Given the description of an element on the screen output the (x, y) to click on. 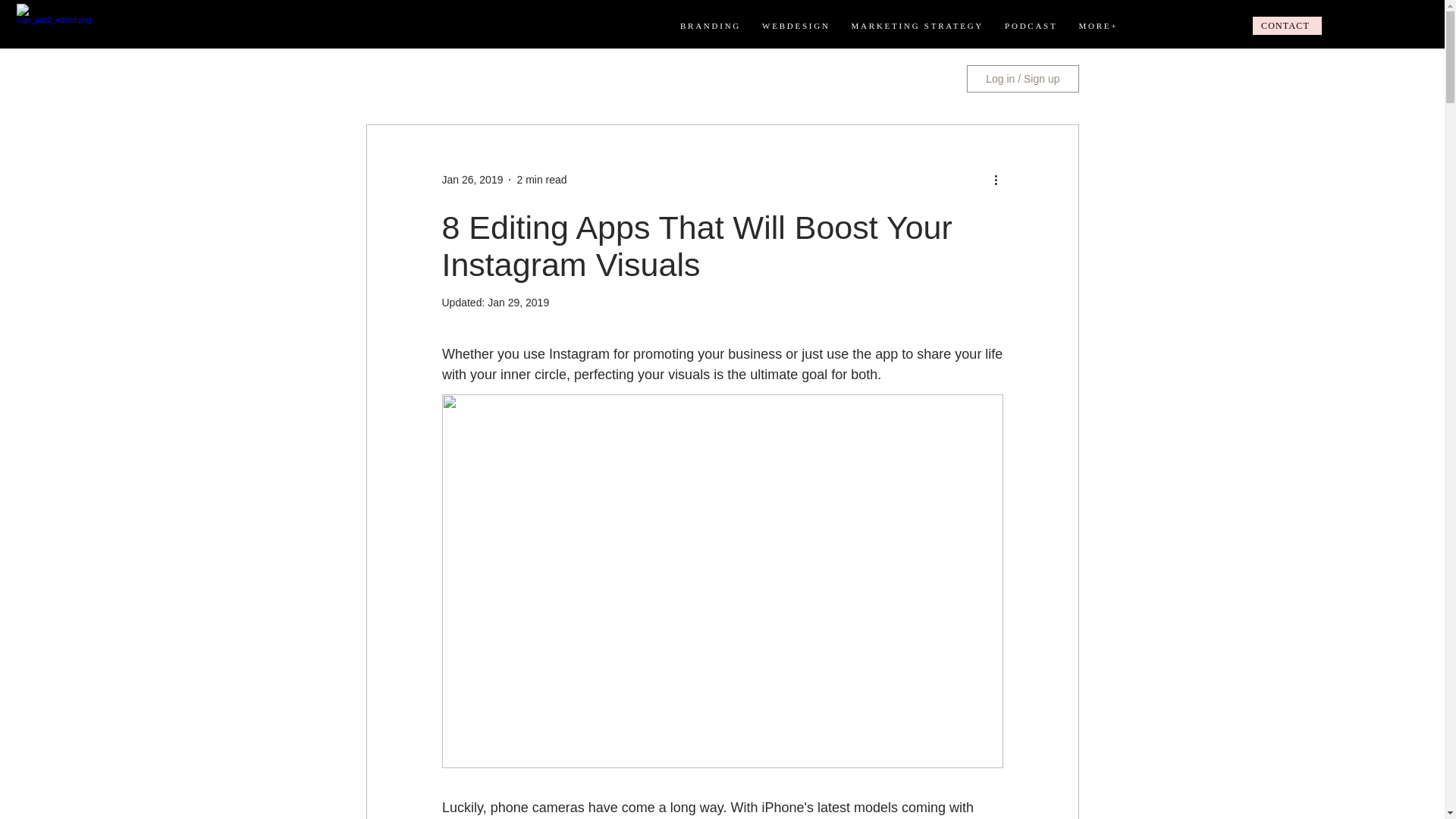
Jan 26, 2019 (471, 178)
2 min read (541, 178)
CONTACT (1287, 25)
MARKETING STRATEGY (917, 25)
PODCAST (1030, 25)
Jan 29, 2019 (517, 302)
